Given the description of an element on the screen output the (x, y) to click on. 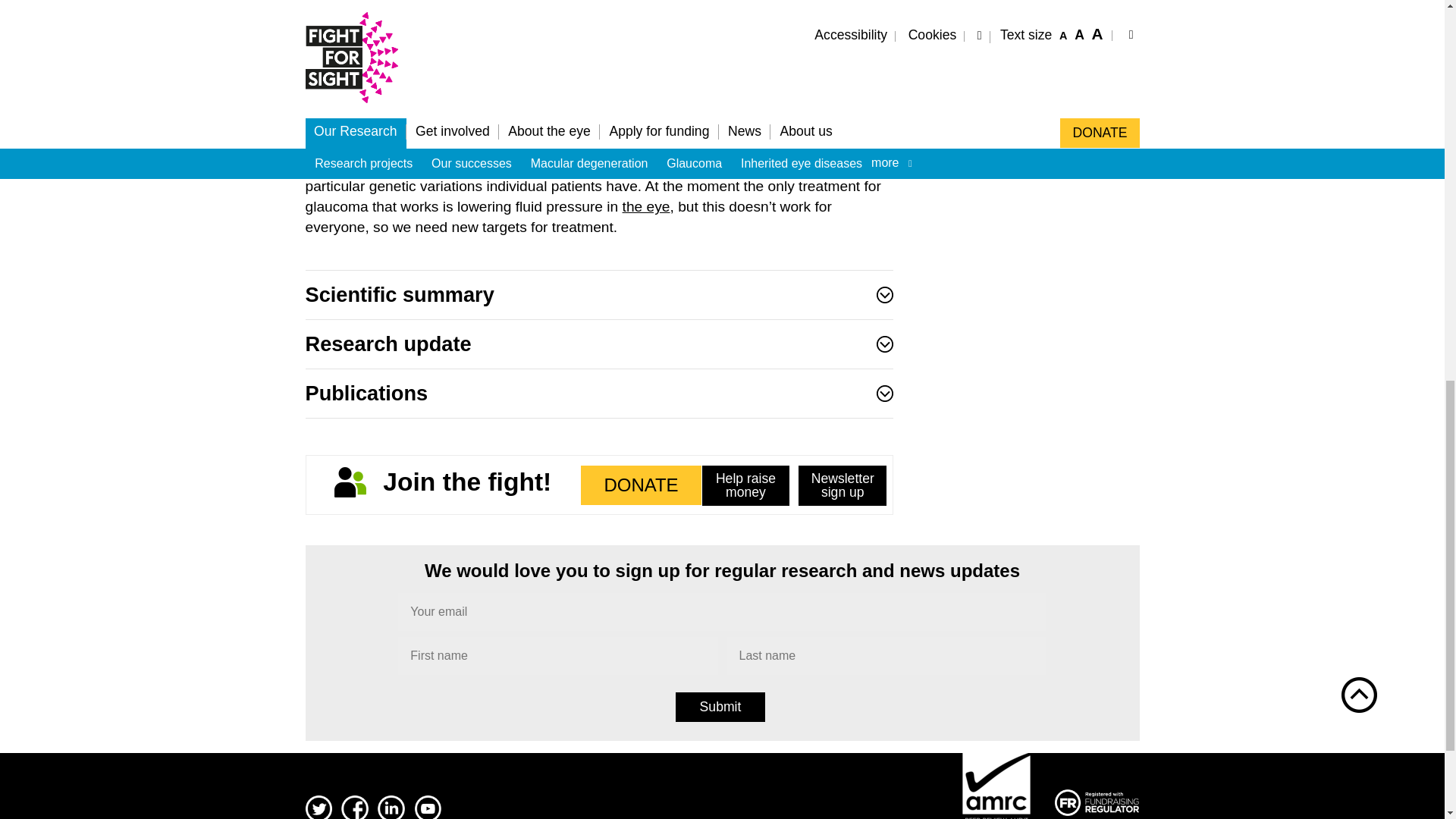
Anatomy of the eye (646, 206)
